Given the description of an element on the screen output the (x, y) to click on. 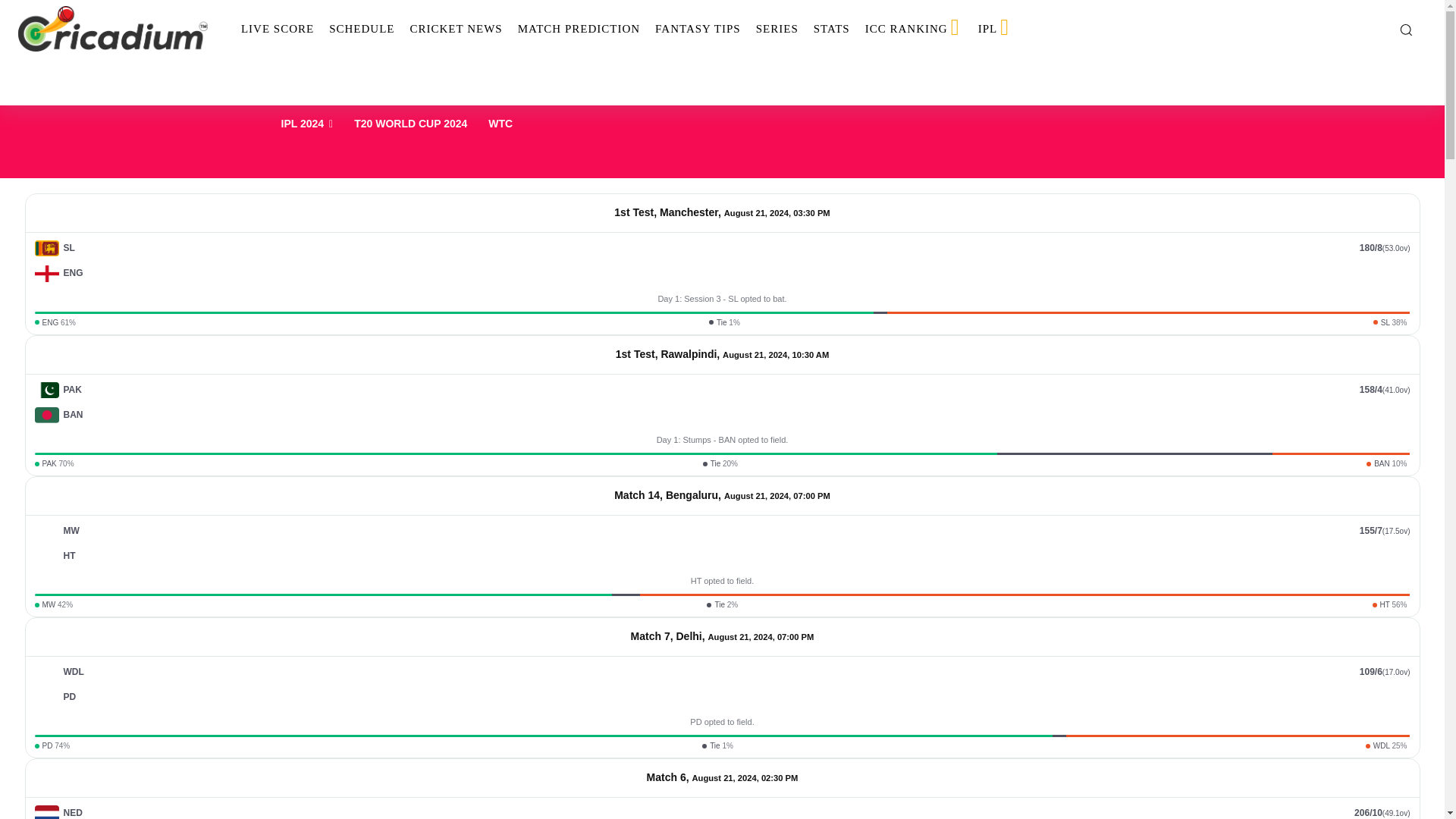
IPL (995, 28)
SERIES (777, 28)
STATS (831, 28)
LIVE SCORE (276, 28)
FANTASY TIPS (697, 28)
MATCH PREDICTION (579, 28)
CRICKET NEWS (455, 28)
SCHEDULE (361, 28)
Cricadium (112, 28)
ICC RANKING (914, 28)
